Given the description of an element on the screen output the (x, y) to click on. 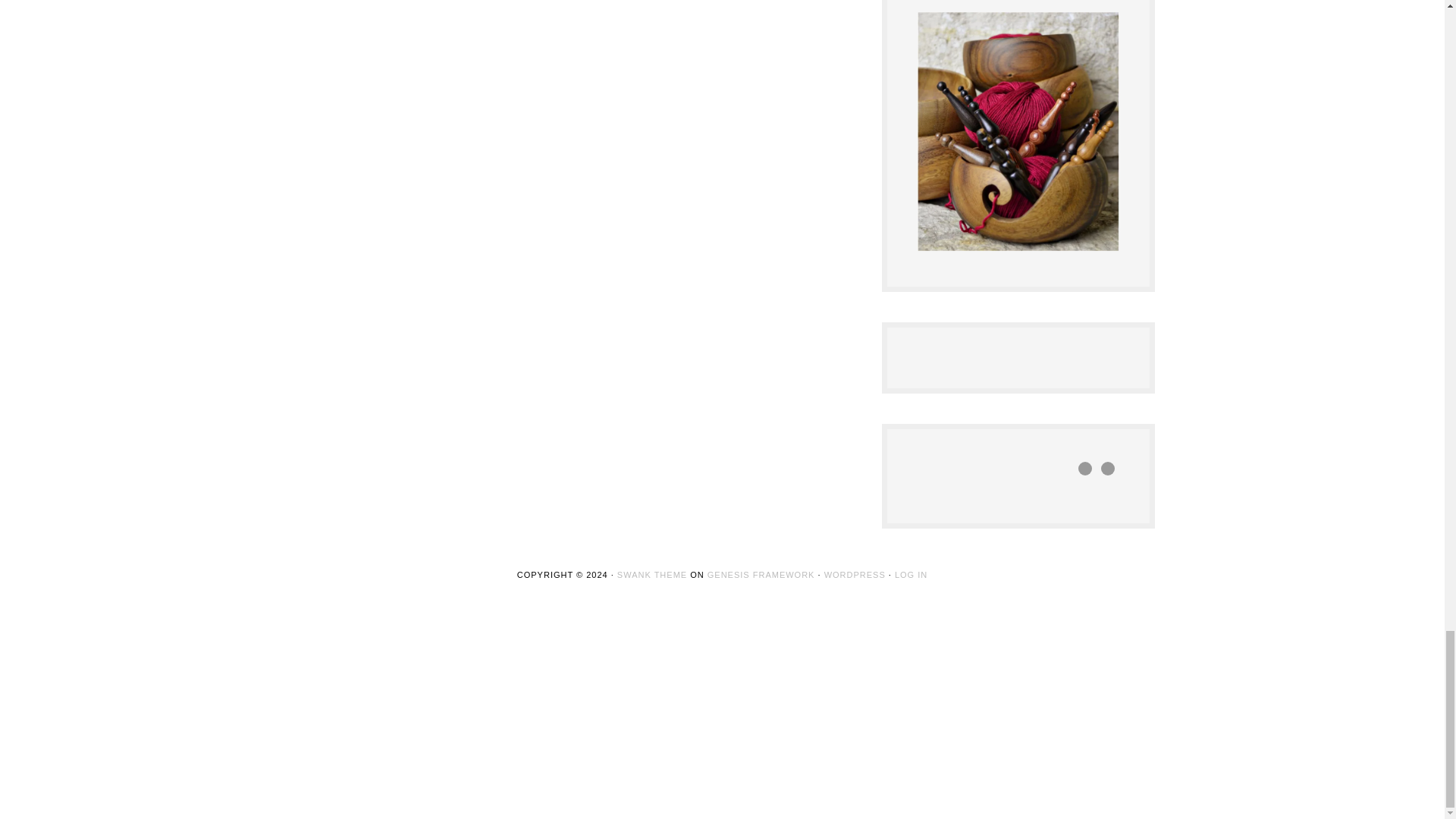
GENESIS FRAMEWORK (761, 574)
SWANK THEME (652, 574)
LOG IN (911, 574)
WORDPRESS (854, 574)
